Given the description of an element on the screen output the (x, y) to click on. 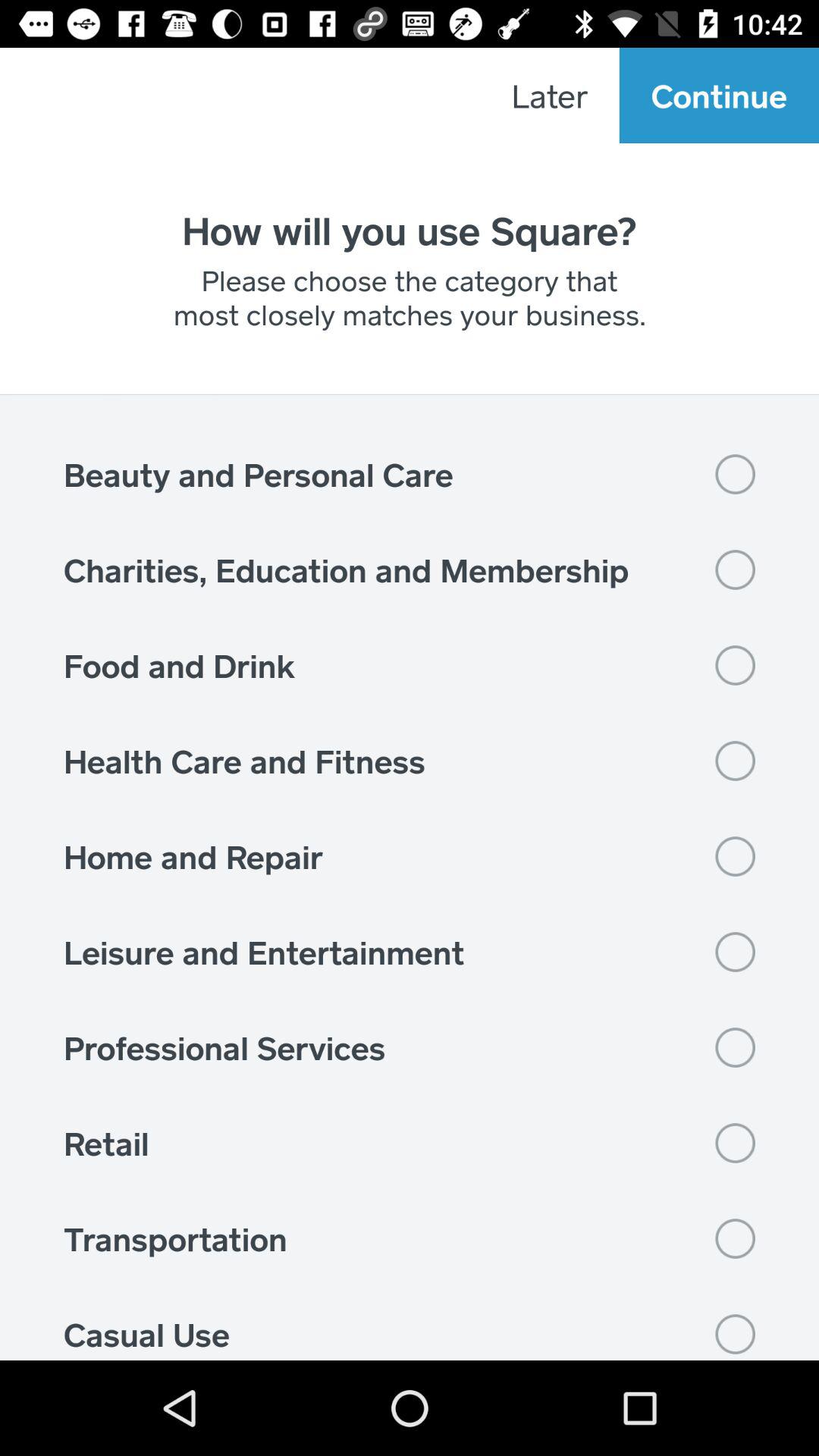
turn on the please choose the icon (409, 297)
